Given the description of an element on the screen output the (x, y) to click on. 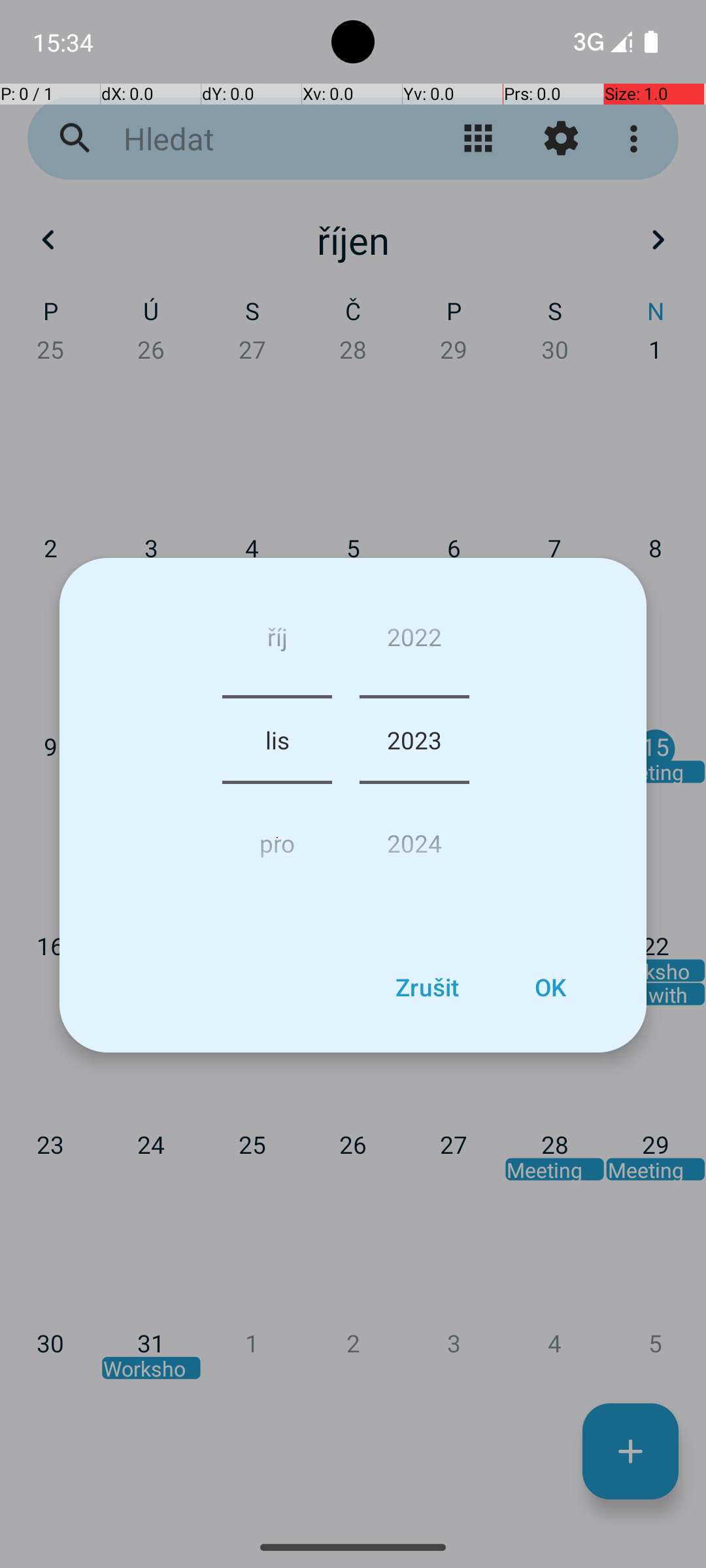
Zrušit Element type: android.widget.Button (426, 987)
říj Element type: android.widget.Button (277, 641)
lis Element type: android.widget.EditText (277, 739)
pro Element type: android.widget.Button (277, 837)
